Given the description of an element on the screen output the (x, y) to click on. 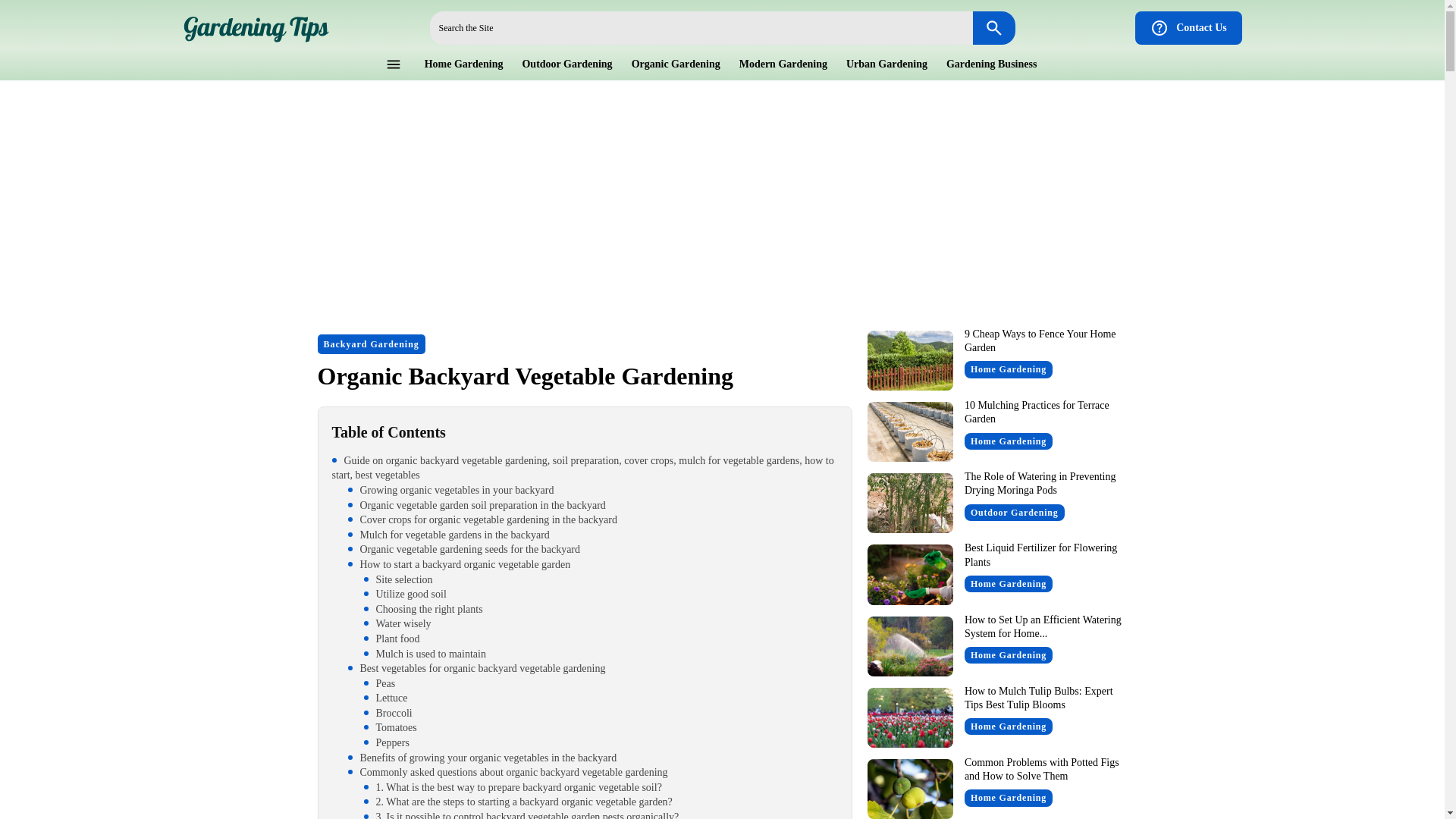
Contact Us (1188, 28)
